Given the description of an element on the screen output the (x, y) to click on. 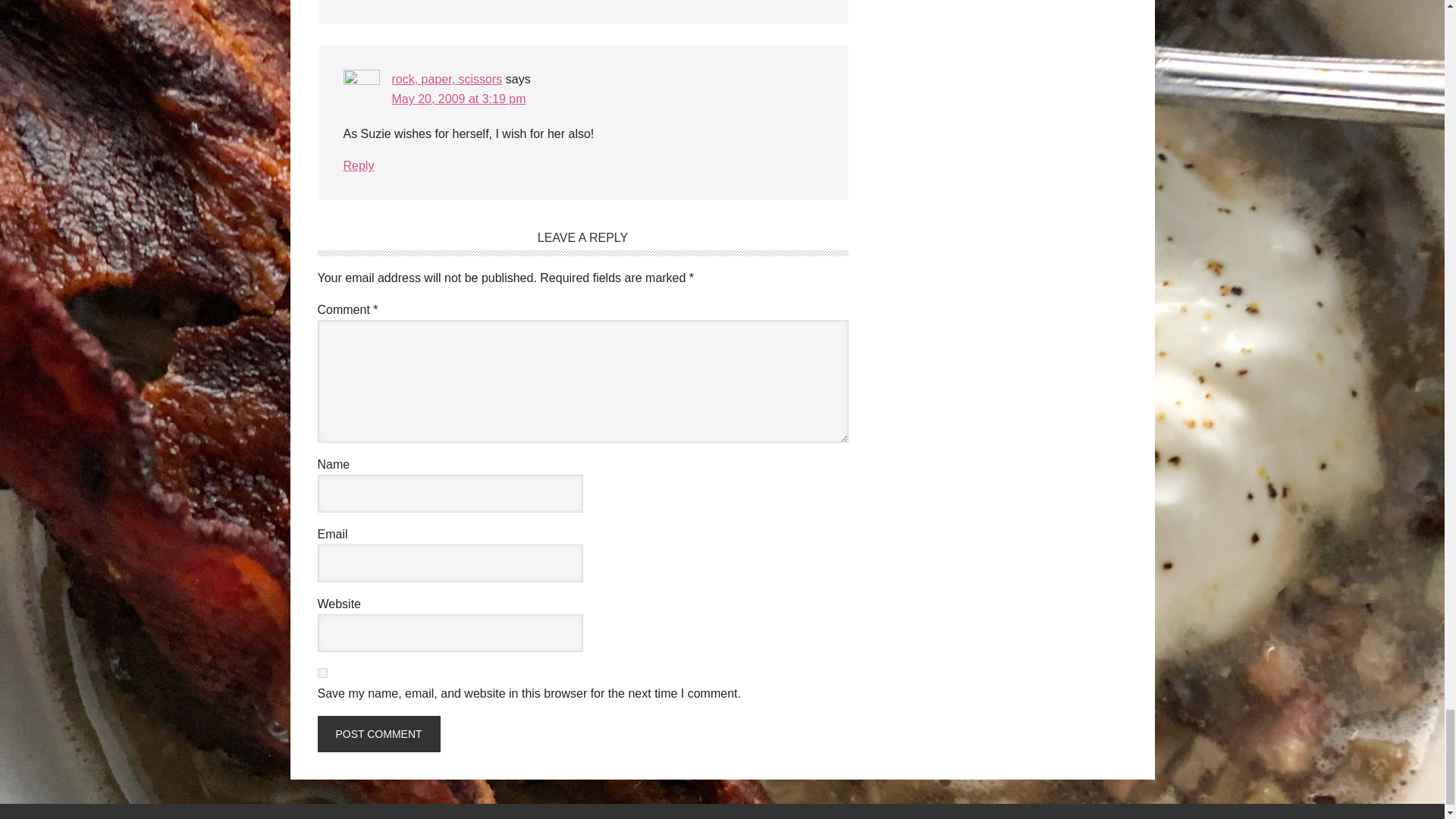
yes (321, 673)
Post Comment (378, 733)
